Given the description of an element on the screen output the (x, y) to click on. 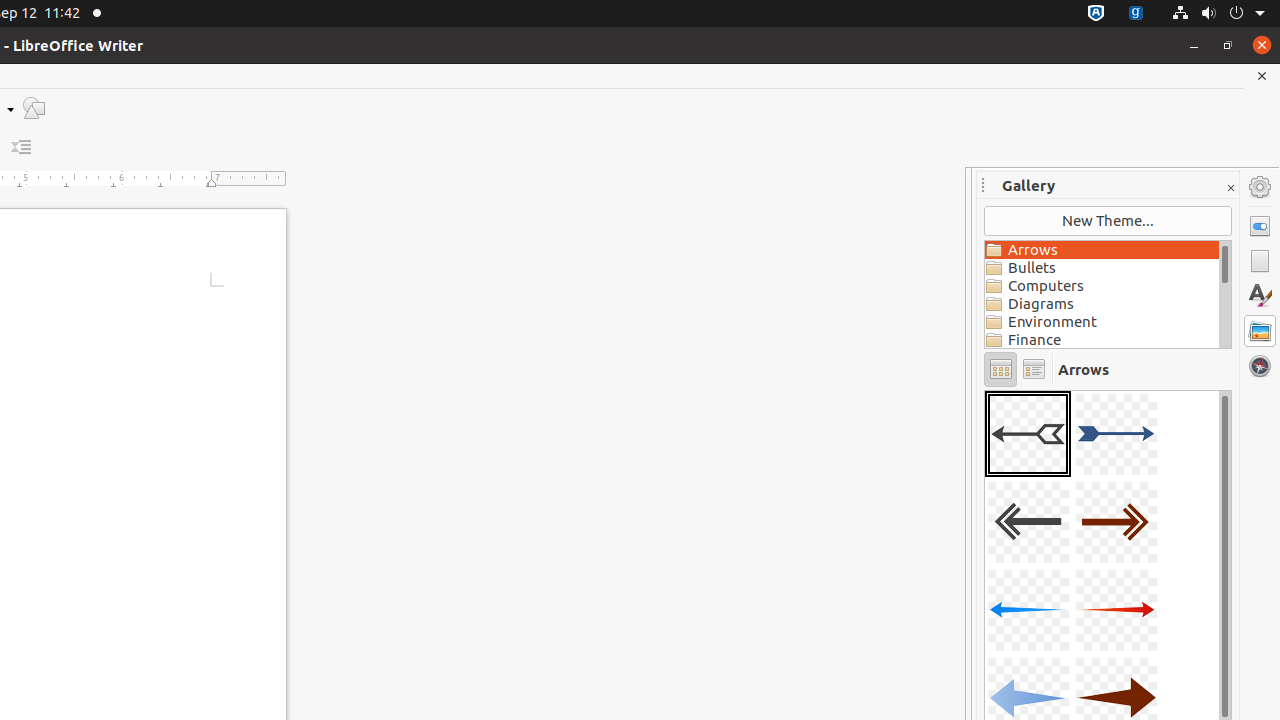
Styles Element type: radio-button (1260, 296)
New Theme Element type: push-button (1108, 221)
Navigator Element type: radio-button (1260, 366)
Environment Element type: list-item (1102, 322)
Detailed View Element type: toggle-button (1033, 369)
